Given the description of an element on the screen output the (x, y) to click on. 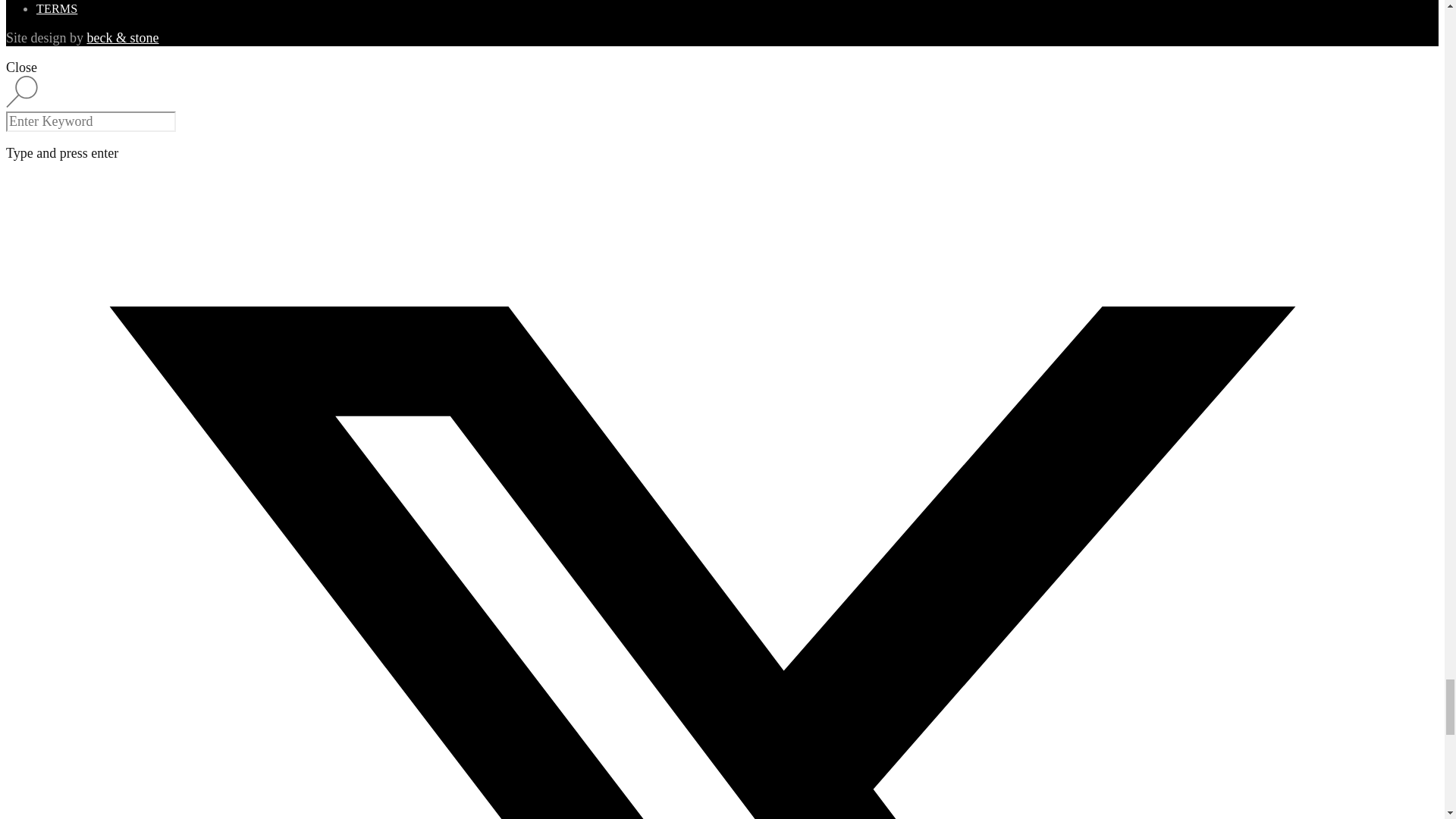
search-alt (21, 91)
Terms of Use (56, 8)
